Given the description of an element on the screen output the (x, y) to click on. 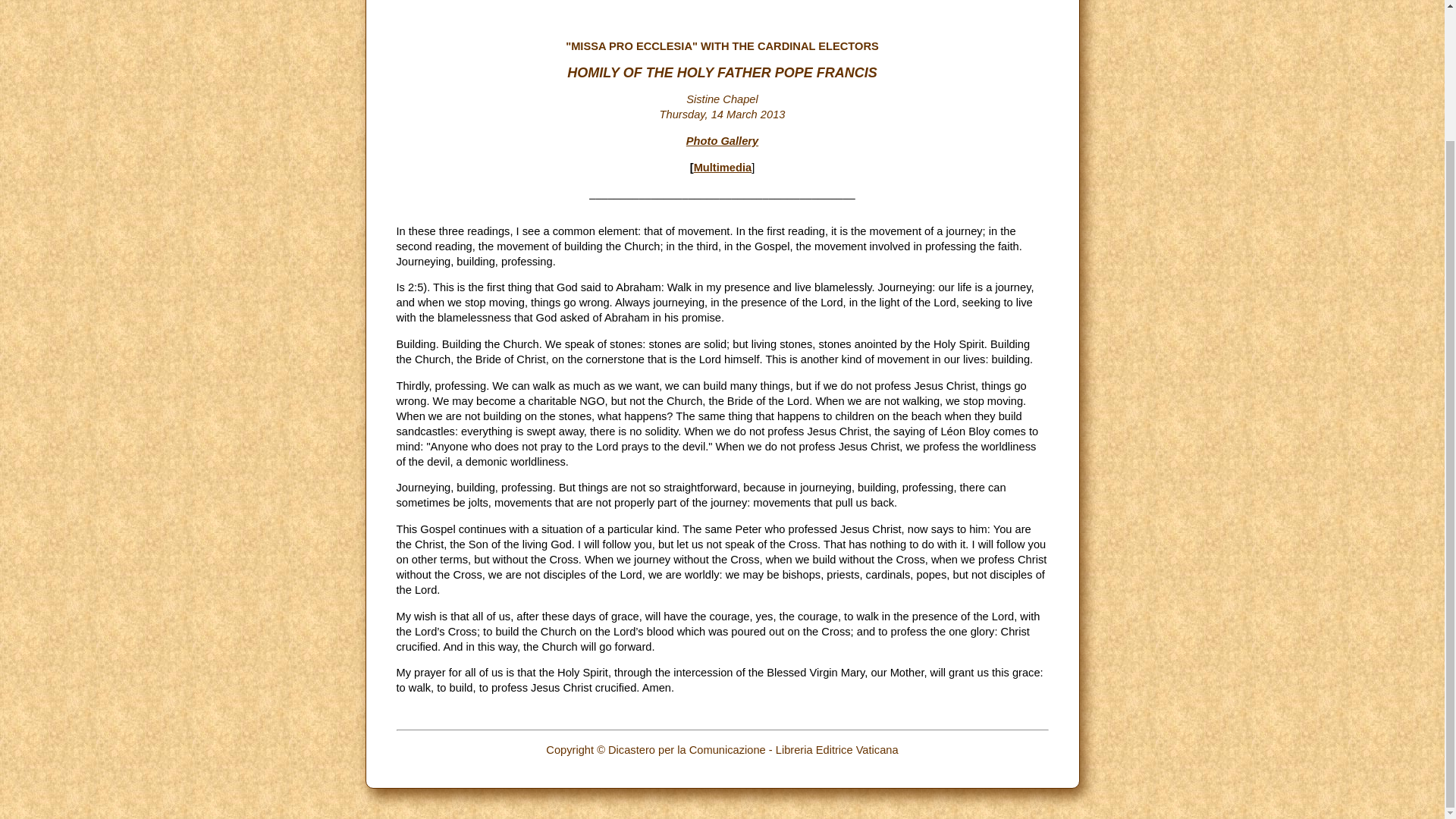
Multimedia (723, 167)
Photo Gallery (721, 141)
